Given the description of an element on the screen output the (x, y) to click on. 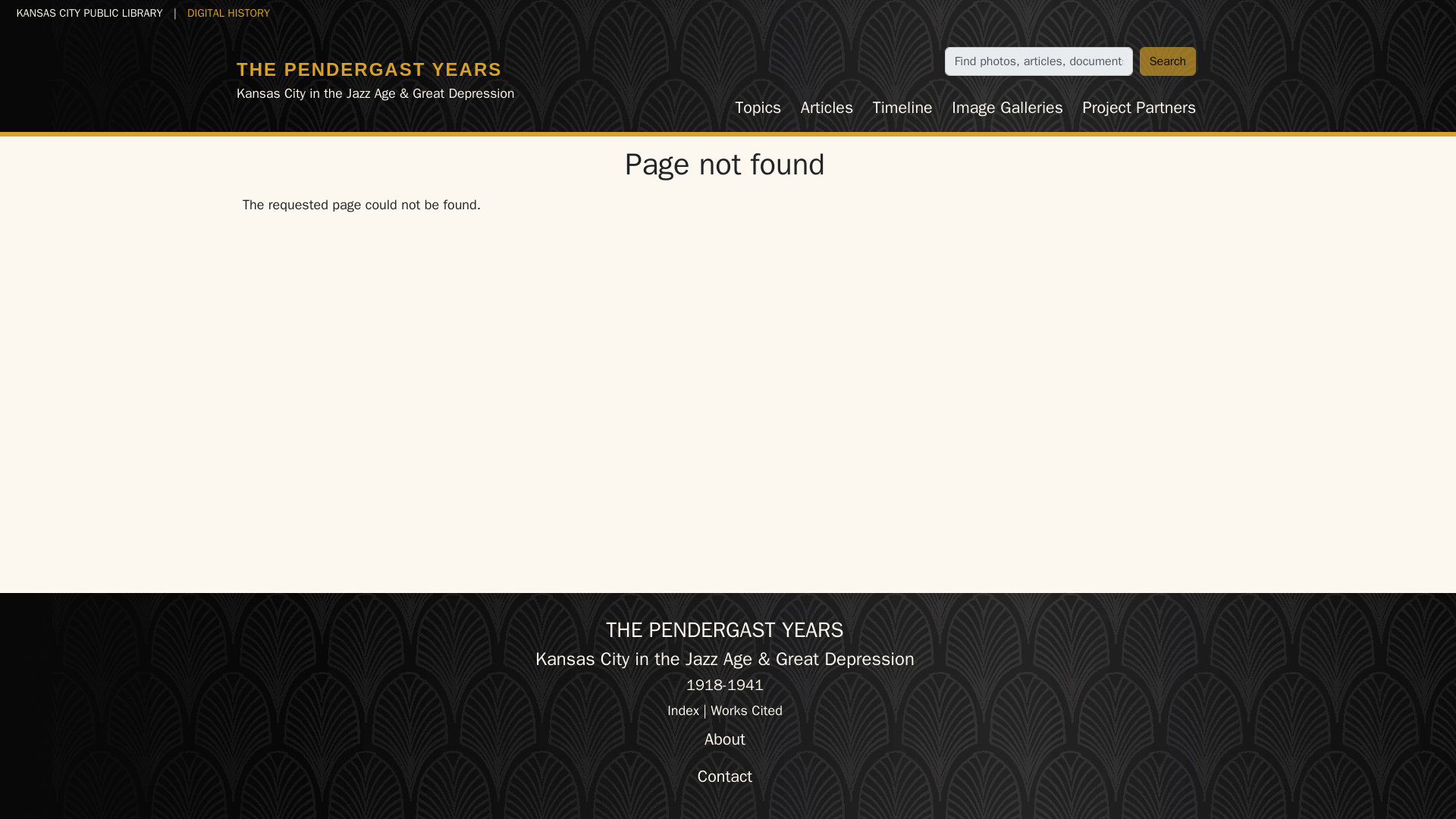
Topics (757, 107)
Works Cited (746, 710)
Search (1168, 61)
About (725, 739)
THE PENDERGAST YEARS (368, 68)
Home (368, 68)
Contact (725, 776)
Search (1168, 61)
DIGITAL HISTORY (228, 12)
Project Partners (1139, 107)
Skip to main content (67, 11)
Image Galleries (1007, 107)
Index (682, 710)
Articles (826, 107)
Timeline (902, 107)
